Given the description of an element on the screen output the (x, y) to click on. 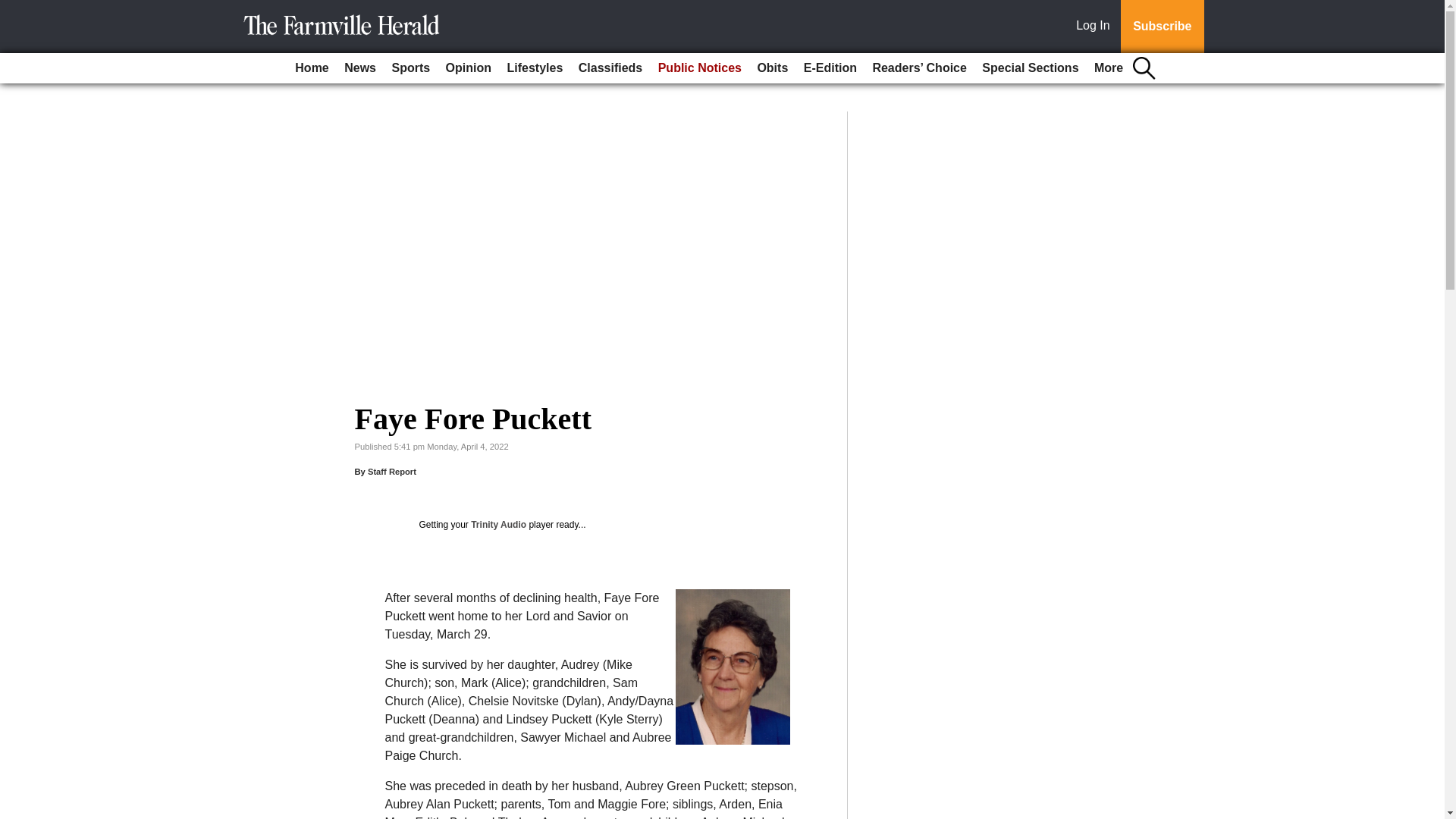
Lifestyles (534, 68)
Public Notices (700, 68)
Sports (410, 68)
E-Edition (830, 68)
Obits (772, 68)
Subscribe (1162, 26)
Classifieds (609, 68)
Go (13, 9)
Log In (1095, 26)
Staff Report (392, 470)
News (359, 68)
Opinion (468, 68)
Special Sections (1029, 68)
Home (311, 68)
More (1108, 68)
